Given the description of an element on the screen output the (x, y) to click on. 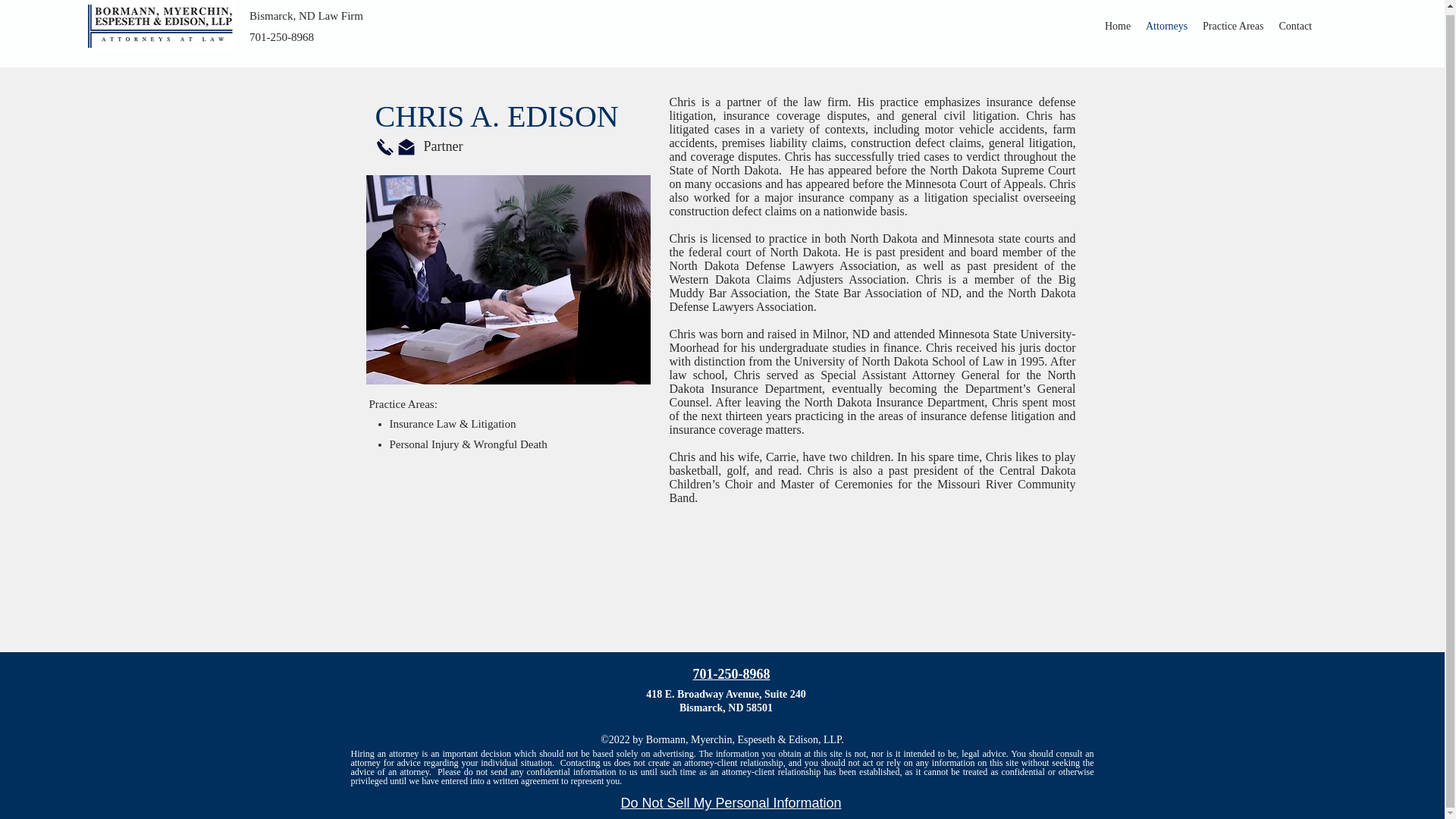
Contact (1295, 26)
Home (1117, 26)
Practice Areas (1233, 26)
701-250-8968 (731, 673)
Attorneys (1166, 26)
Do Not Sell My Personal Information (730, 803)
